Given the description of an element on the screen output the (x, y) to click on. 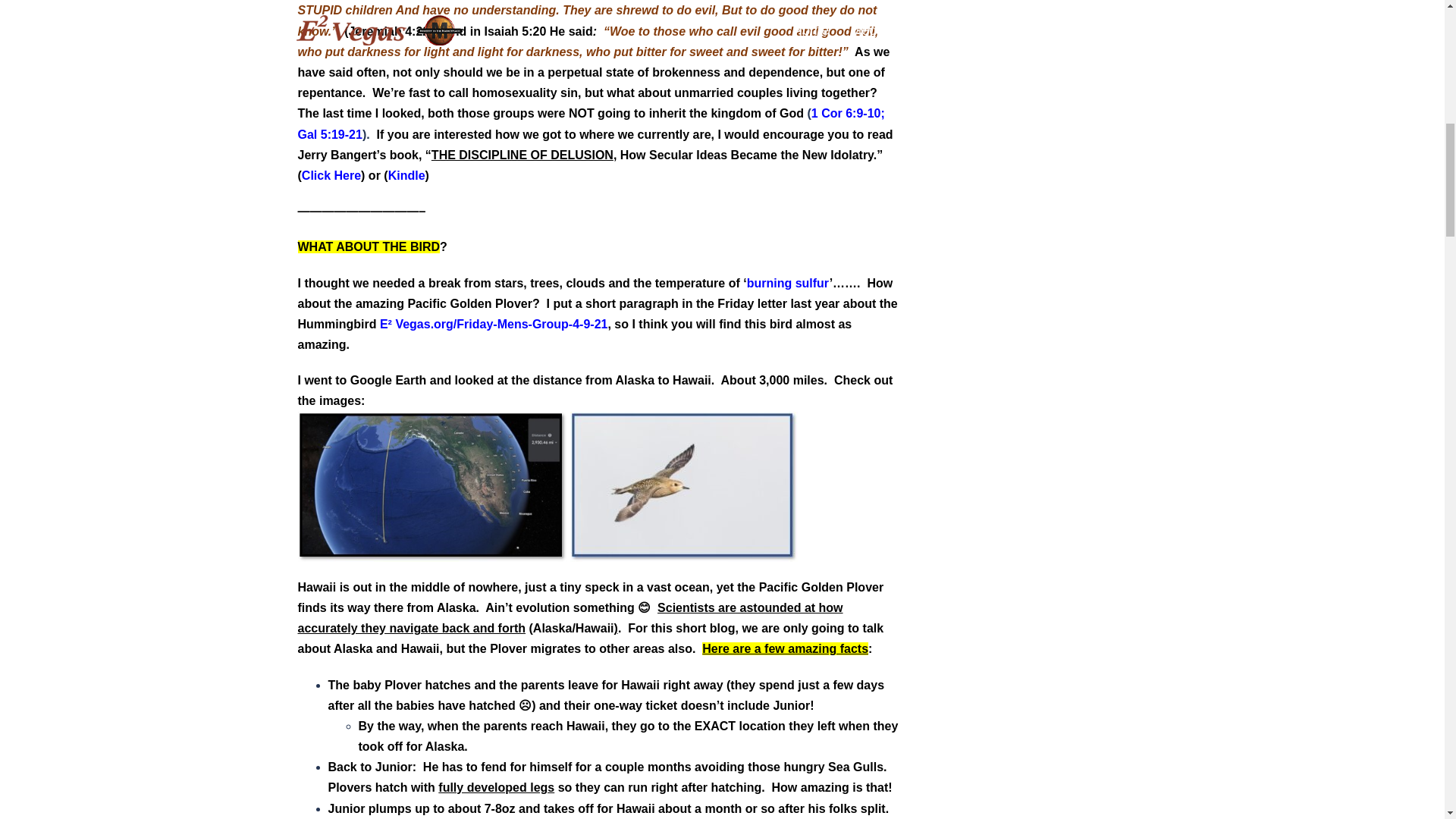
Kindle (406, 174)
burning sulfur (787, 282)
Click Here (331, 174)
1 Cor 6:9-10; Gal 5:19-21 (590, 123)
